Given the description of an element on the screen output the (x, y) to click on. 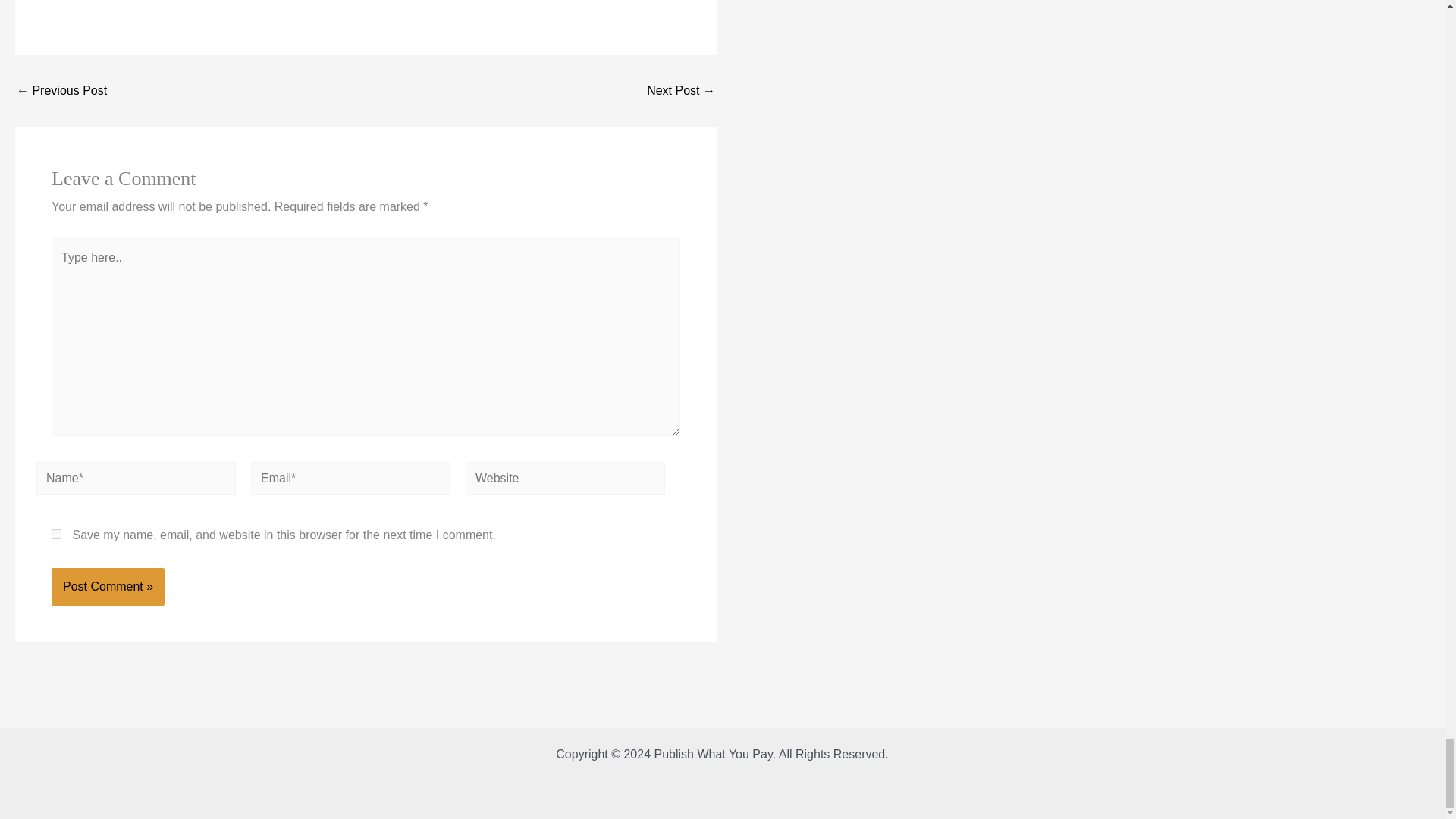
yes (55, 533)
How Precious Metals Can Enhance Portfolio Performance (680, 91)
Quantifying the Diversification Benefits of Precious Metals (61, 91)
